Given the description of an element on the screen output the (x, y) to click on. 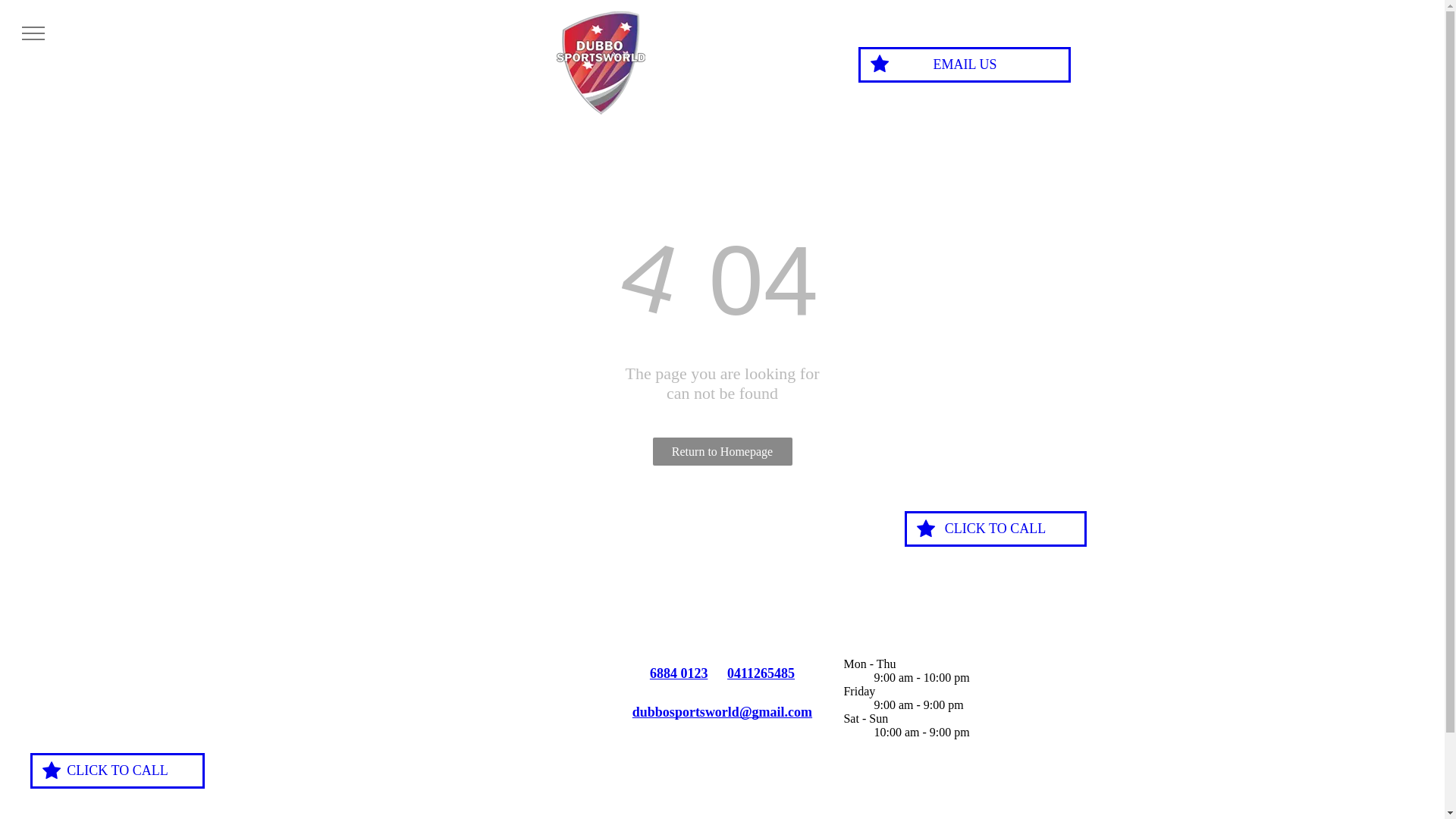
CLICK TO CALL Element type: text (994, 528)
CLICK TO CALL Element type: text (117, 770)
EMAIL US Element type: text (964, 64)
Return to Homepage Element type: text (721, 451)
6884 0123 Element type: text (678, 672)
0411265485 Element type: text (760, 672)
dubbosportsworld@gmail.com Element type: text (722, 711)
